Given the description of an element on the screen output the (x, y) to click on. 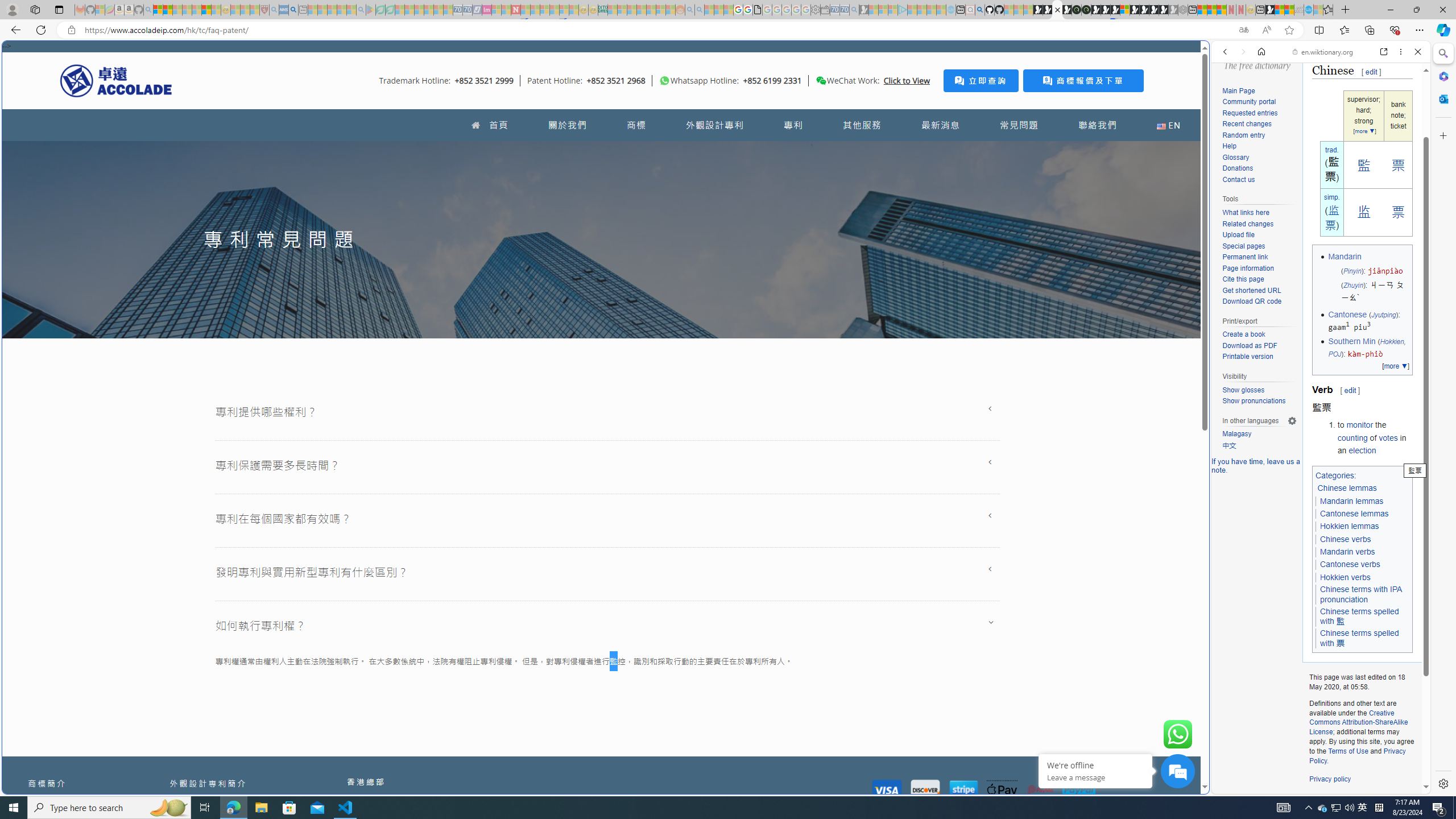
Upload file (1238, 234)
Show translate options (1243, 29)
